Given the description of an element on the screen output the (x, y) to click on. 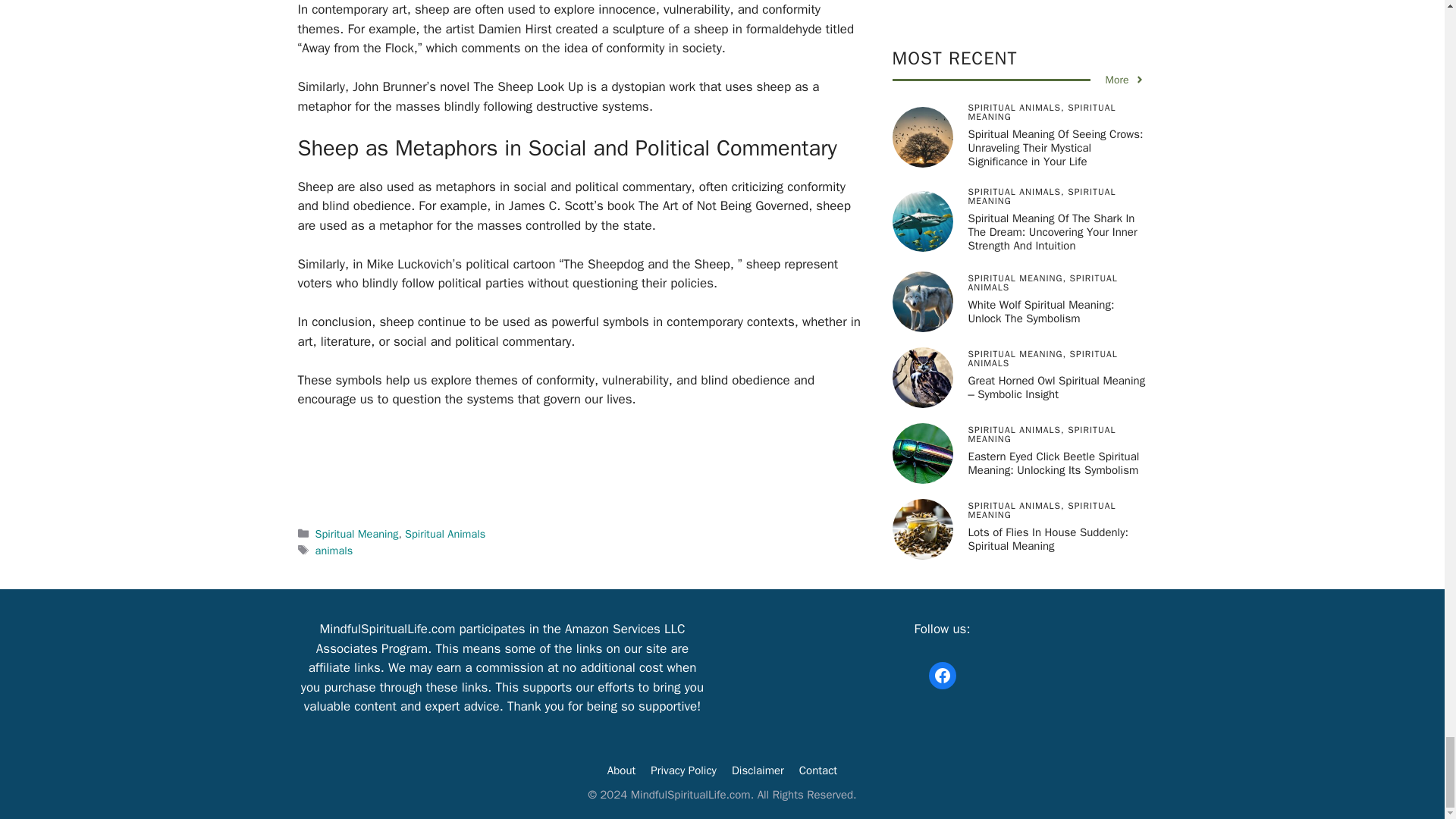
animals (334, 550)
Spiritual Meaning (356, 533)
Spiritual Animals (444, 533)
